Given the description of an element on the screen output the (x, y) to click on. 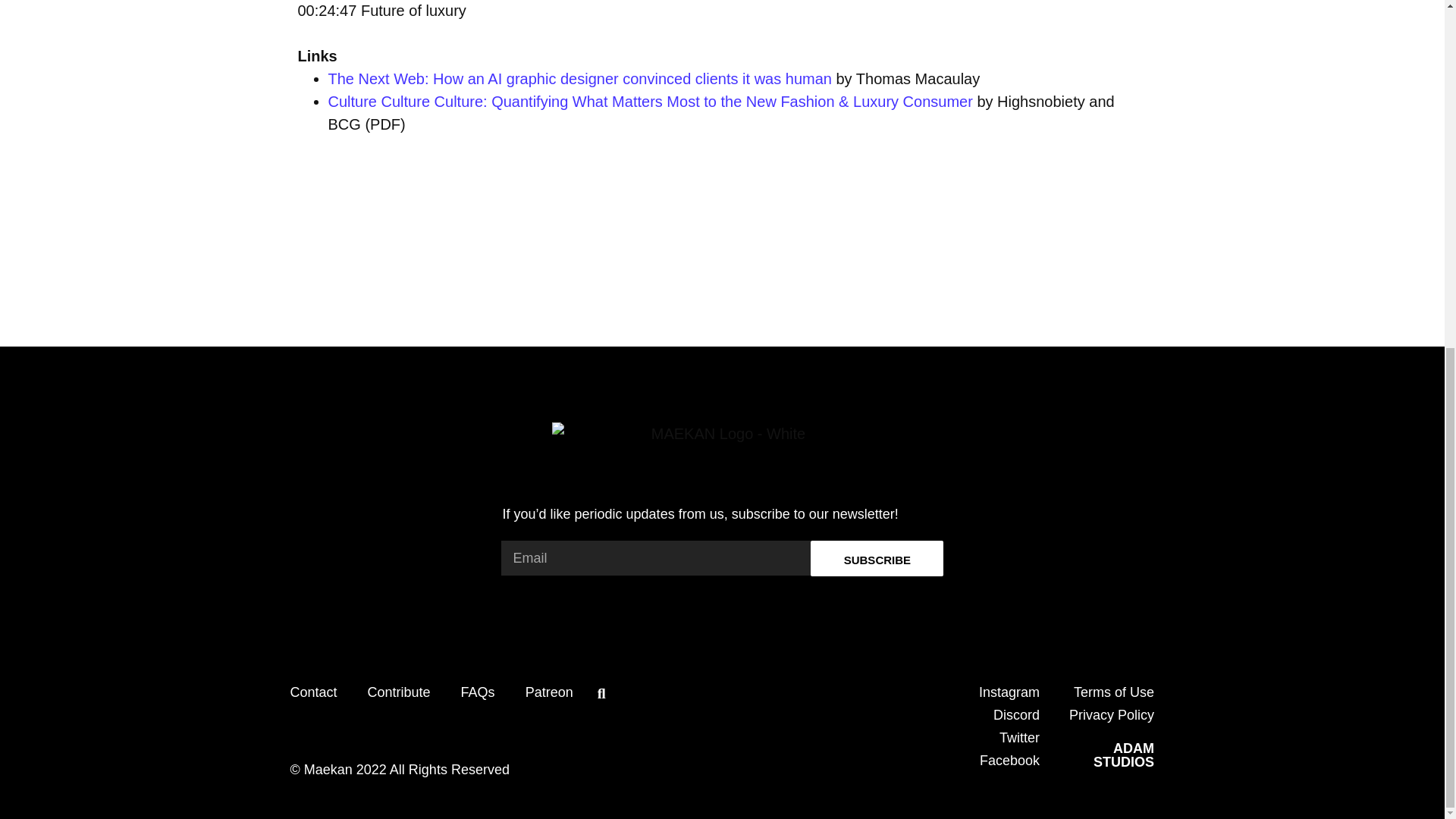
Terms of Use (1114, 692)
Twitter (1018, 737)
Contribute (399, 691)
FAQs (478, 691)
Contact (312, 691)
Instagram (1008, 692)
Privacy Policy (1111, 714)
SUBSCRIBE (876, 558)
Discord (1015, 714)
Facebook (1009, 760)
